Given the description of an element on the screen output the (x, y) to click on. 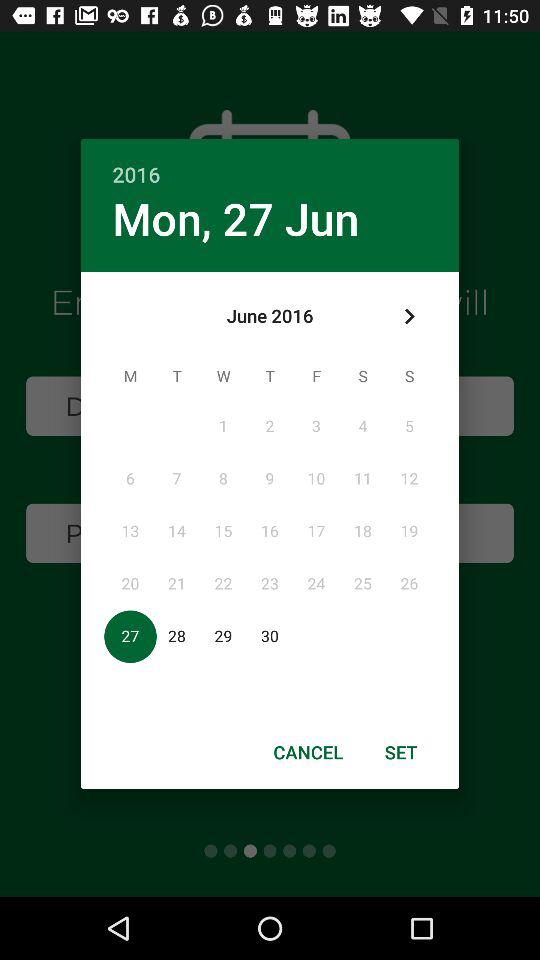
tap the set icon (401, 751)
